Given the description of an element on the screen output the (x, y) to click on. 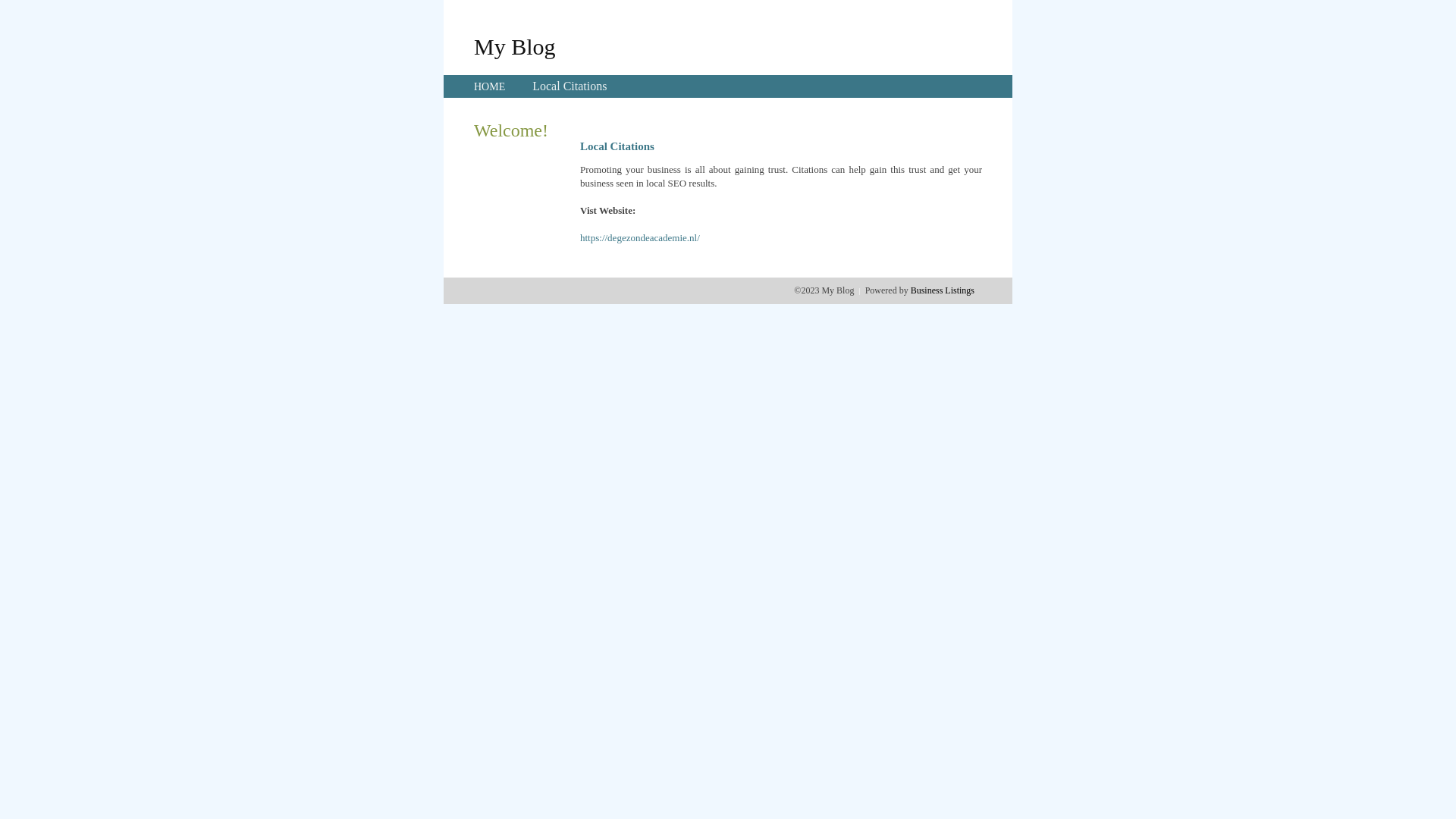
Local Citations Element type: text (569, 85)
HOME Element type: text (489, 86)
My Blog Element type: text (514, 46)
Business Listings Element type: text (942, 290)
https://degezondeacademie.nl/ Element type: text (639, 237)
